Given the description of an element on the screen output the (x, y) to click on. 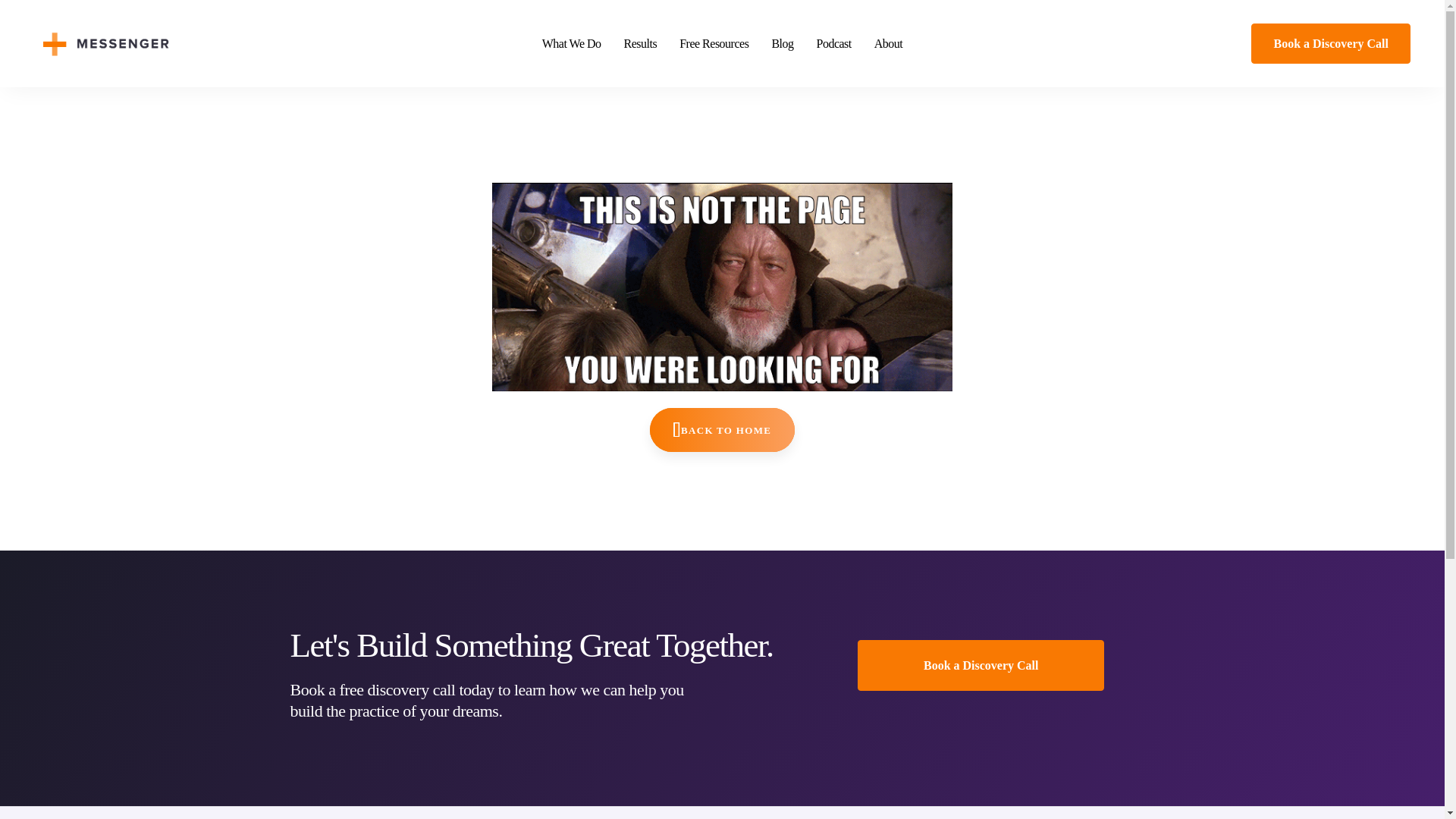
Free Resources (714, 43)
What We Do (571, 43)
Book a Discovery Call (1330, 43)
BACK TO HOME (721, 429)
